Given the description of an element on the screen output the (x, y) to click on. 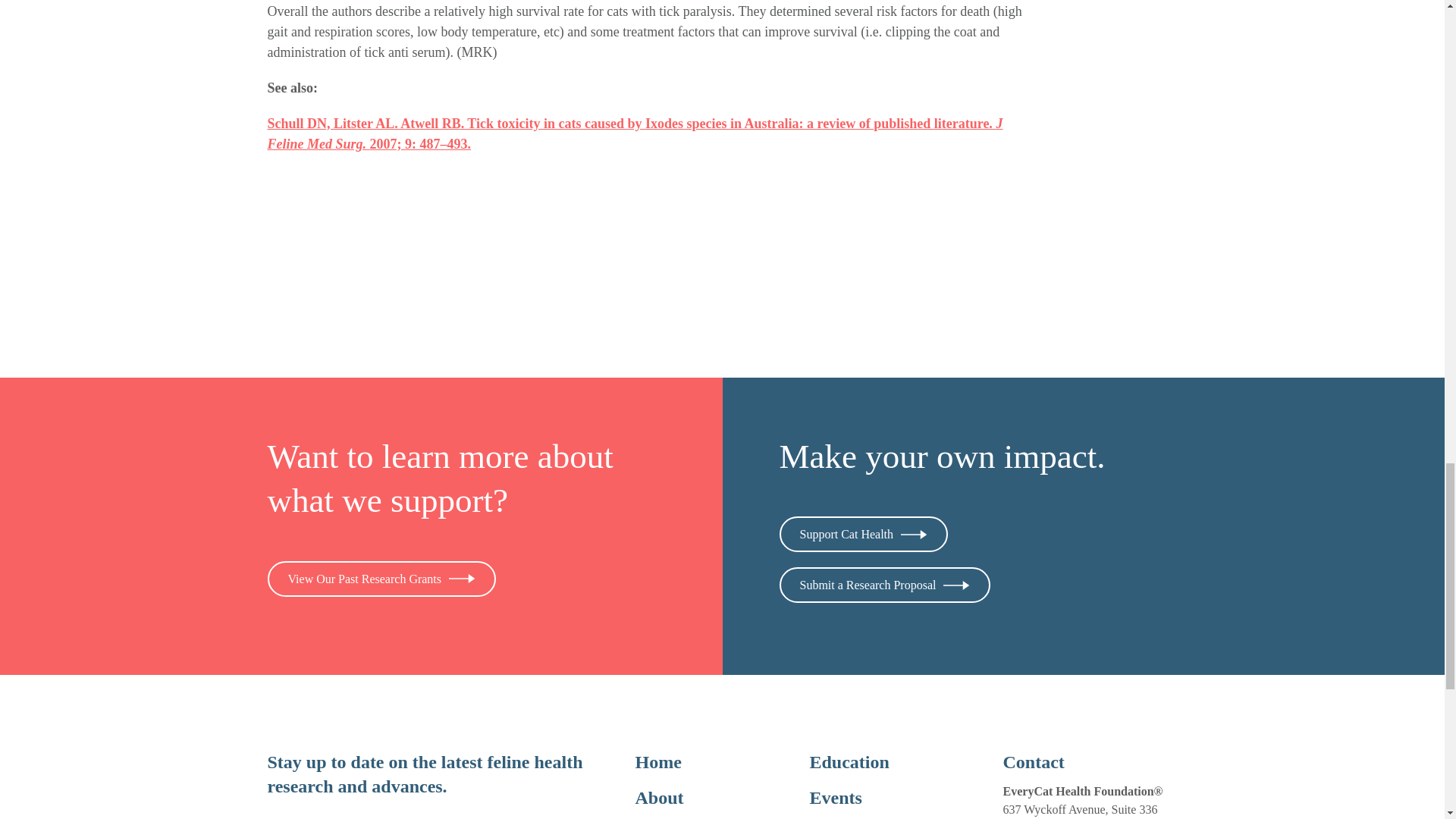
Link to View Our Past Research Grants (381, 579)
Link to Support Cat Health (863, 534)
Link to Submit a Research Proposal (884, 584)
